Given the description of an element on the screen output the (x, y) to click on. 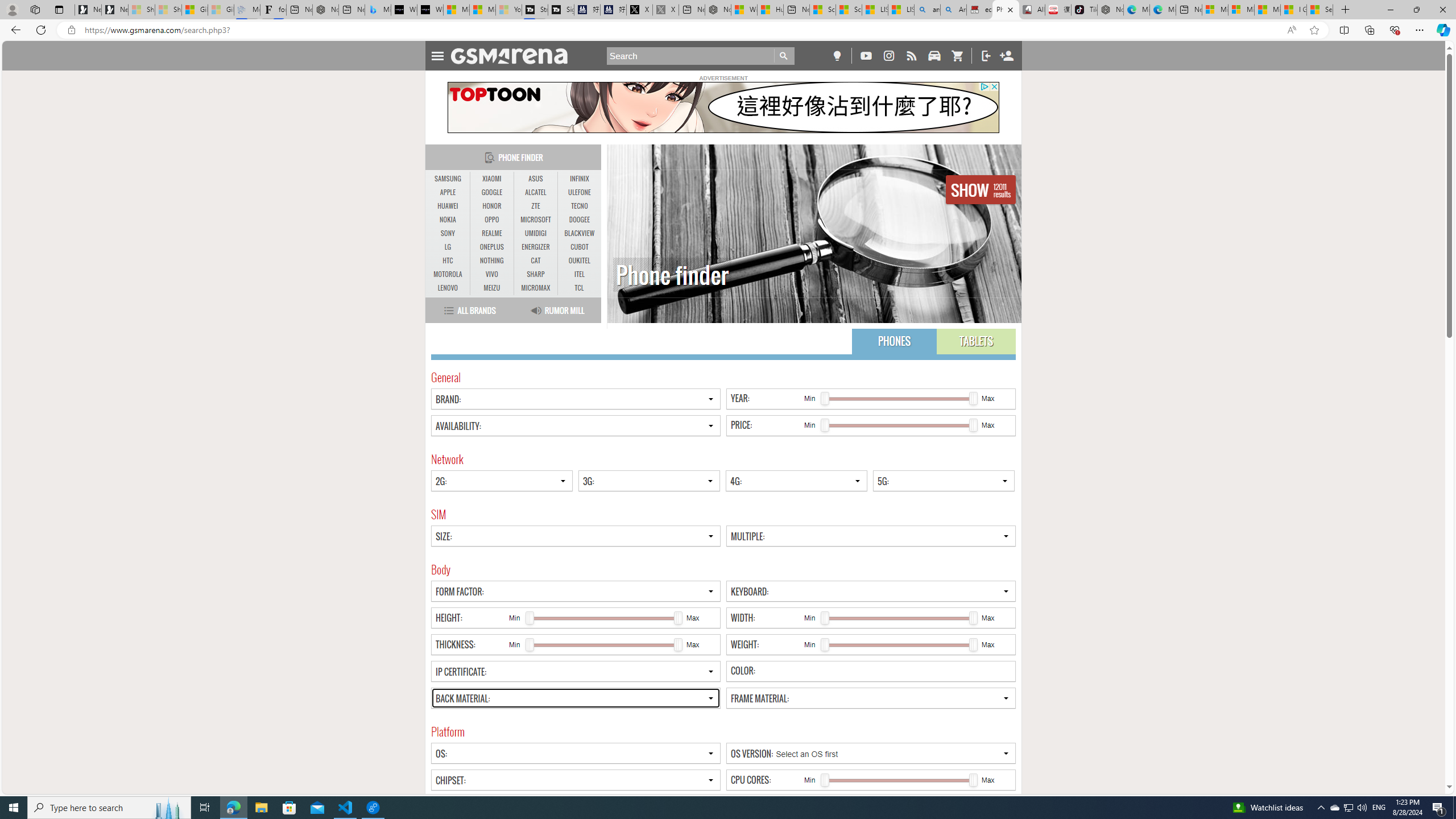
MEIZU (491, 287)
ULEFONE (579, 192)
TABLETS (976, 341)
UMIDIGI (535, 233)
HONOR (491, 205)
VIVO (491, 273)
LG (448, 246)
CUBOT (579, 246)
AutomationID: close_button_svg (994, 86)
